Given the description of an element on the screen output the (x, y) to click on. 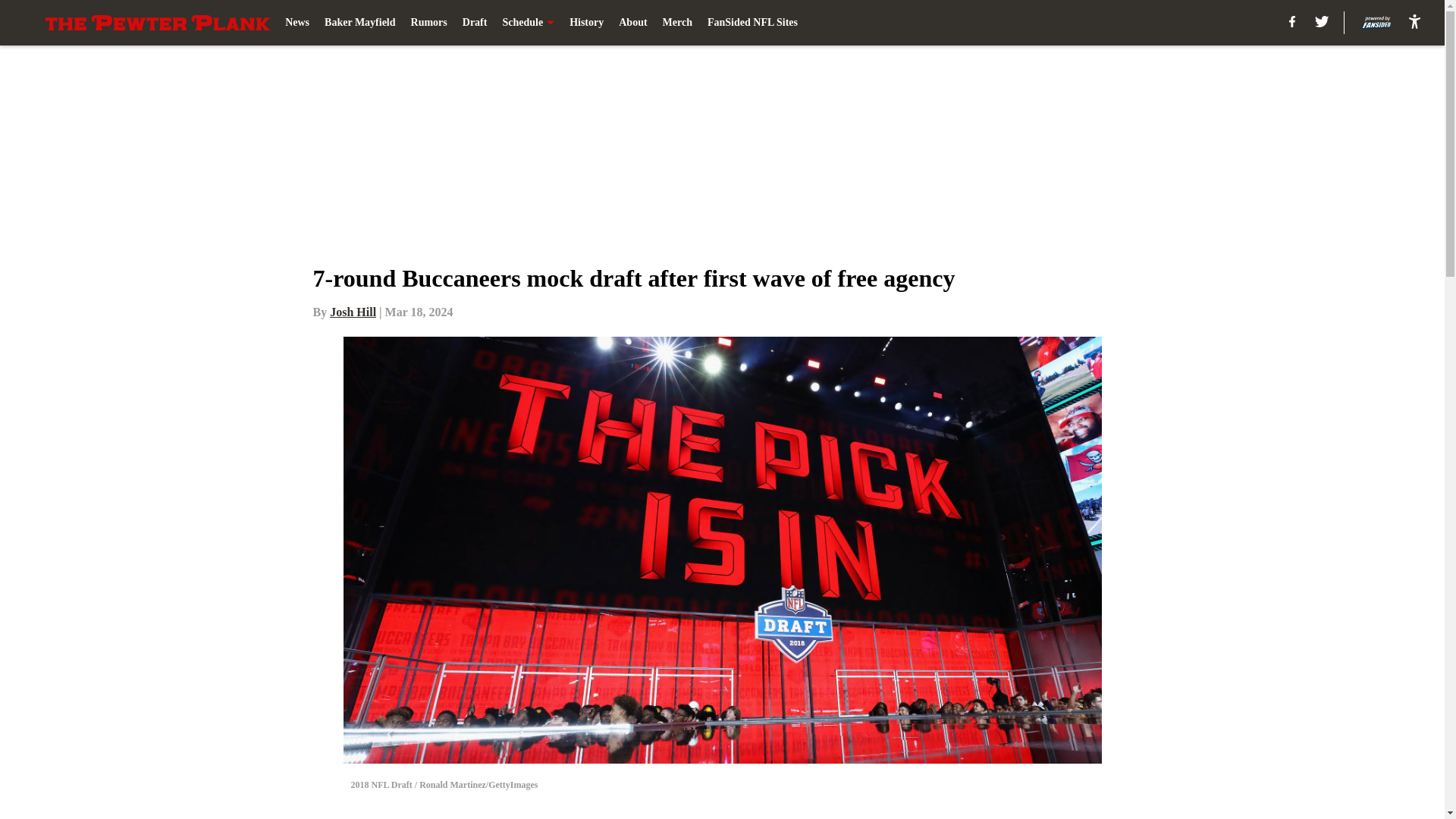
FanSided NFL Sites (752, 22)
About (632, 22)
Rumors (428, 22)
Draft (475, 22)
History (586, 22)
News (296, 22)
Baker Mayfield (359, 22)
Josh Hill (352, 311)
Merch (677, 22)
